Given the description of an element on the screen output the (x, y) to click on. 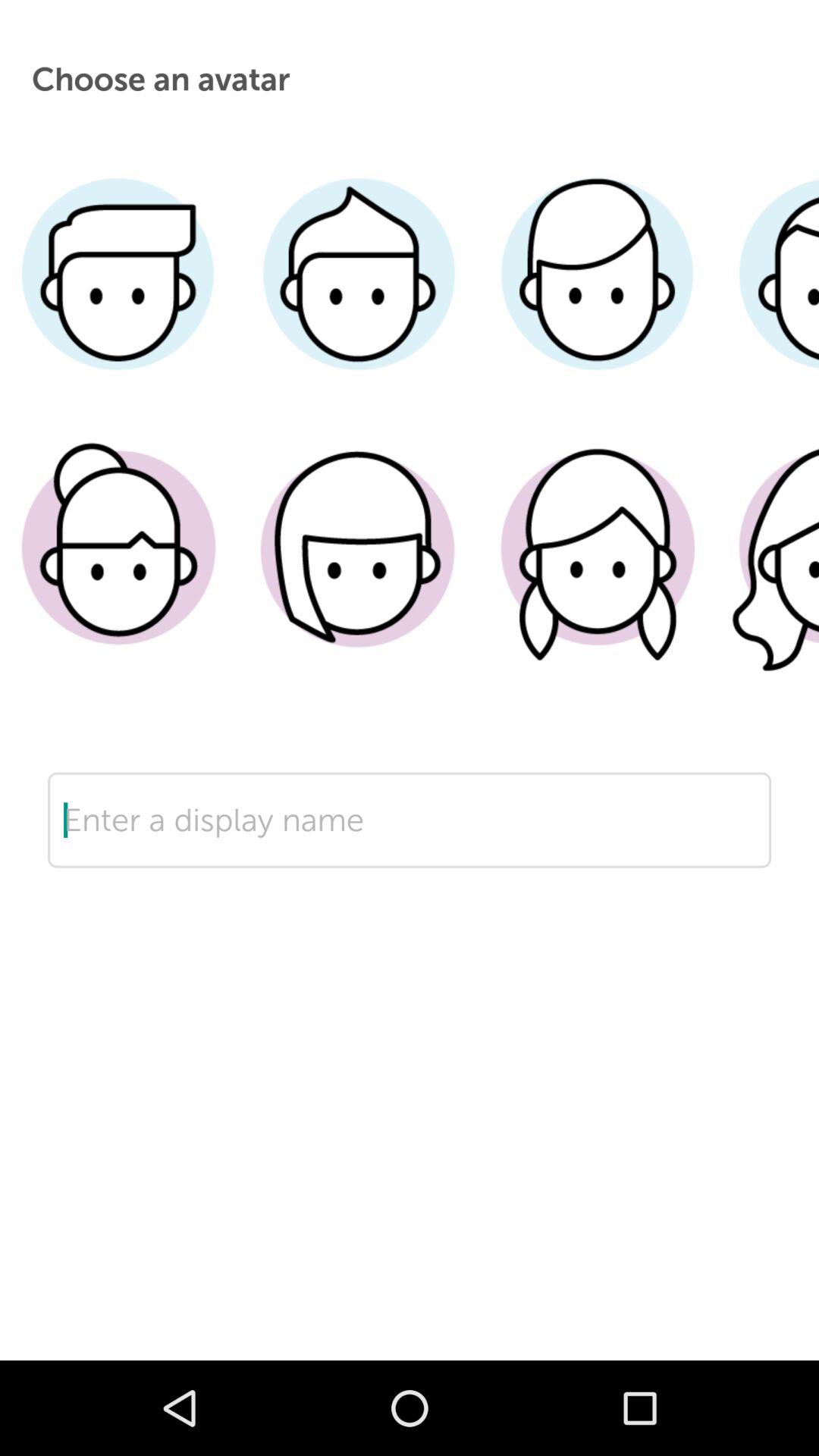
choose this avatar (119, 570)
